Given the description of an element on the screen output the (x, y) to click on. 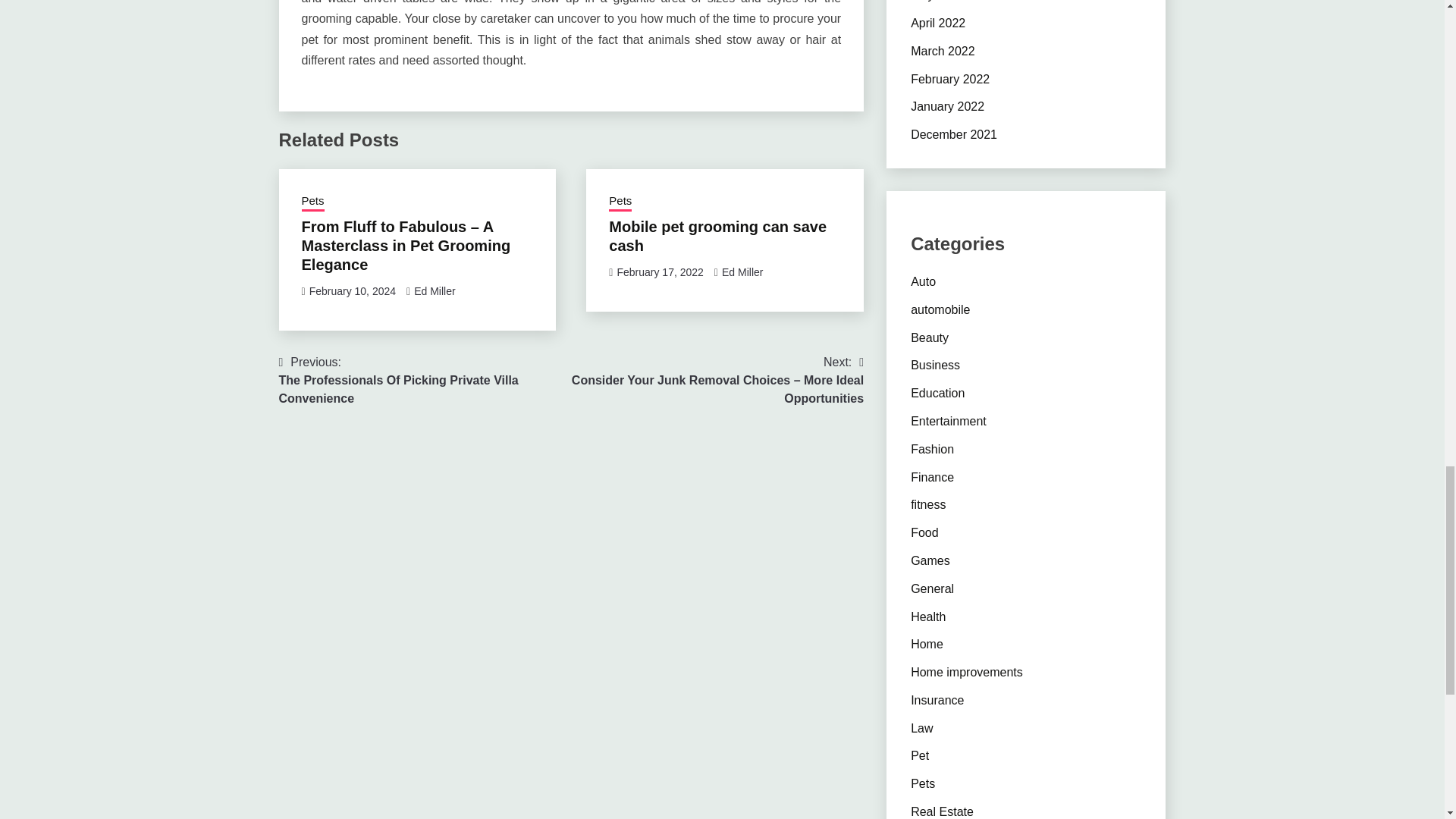
Pets (619, 202)
February 17, 2022 (659, 272)
Pets (312, 202)
Ed Miller (742, 272)
Ed Miller (433, 291)
Mobile pet grooming can save cash (717, 235)
February 10, 2024 (352, 291)
